Given the description of an element on the screen output the (x, y) to click on. 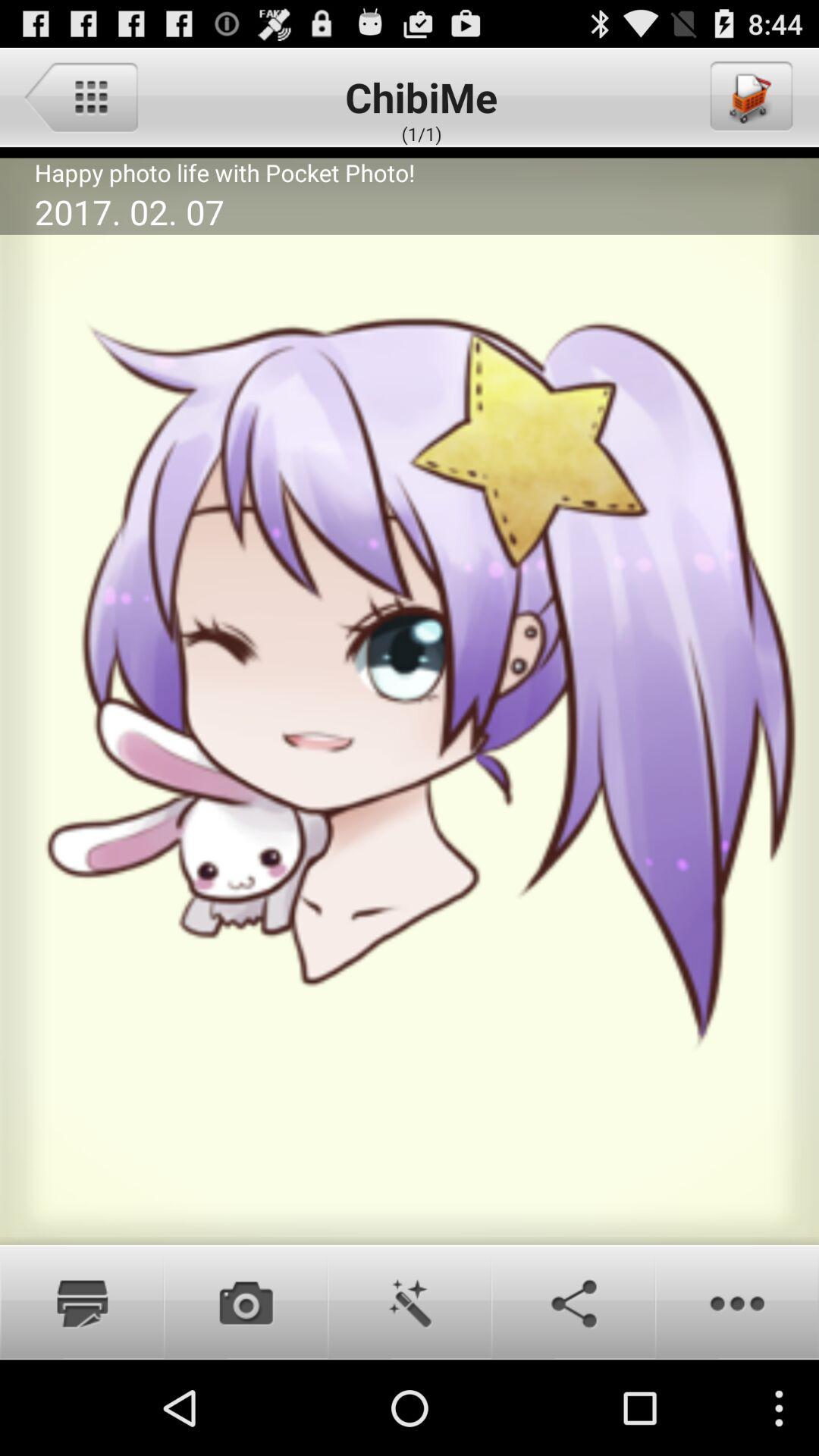
camare (245, 1301)
